Given the description of an element on the screen output the (x, y) to click on. 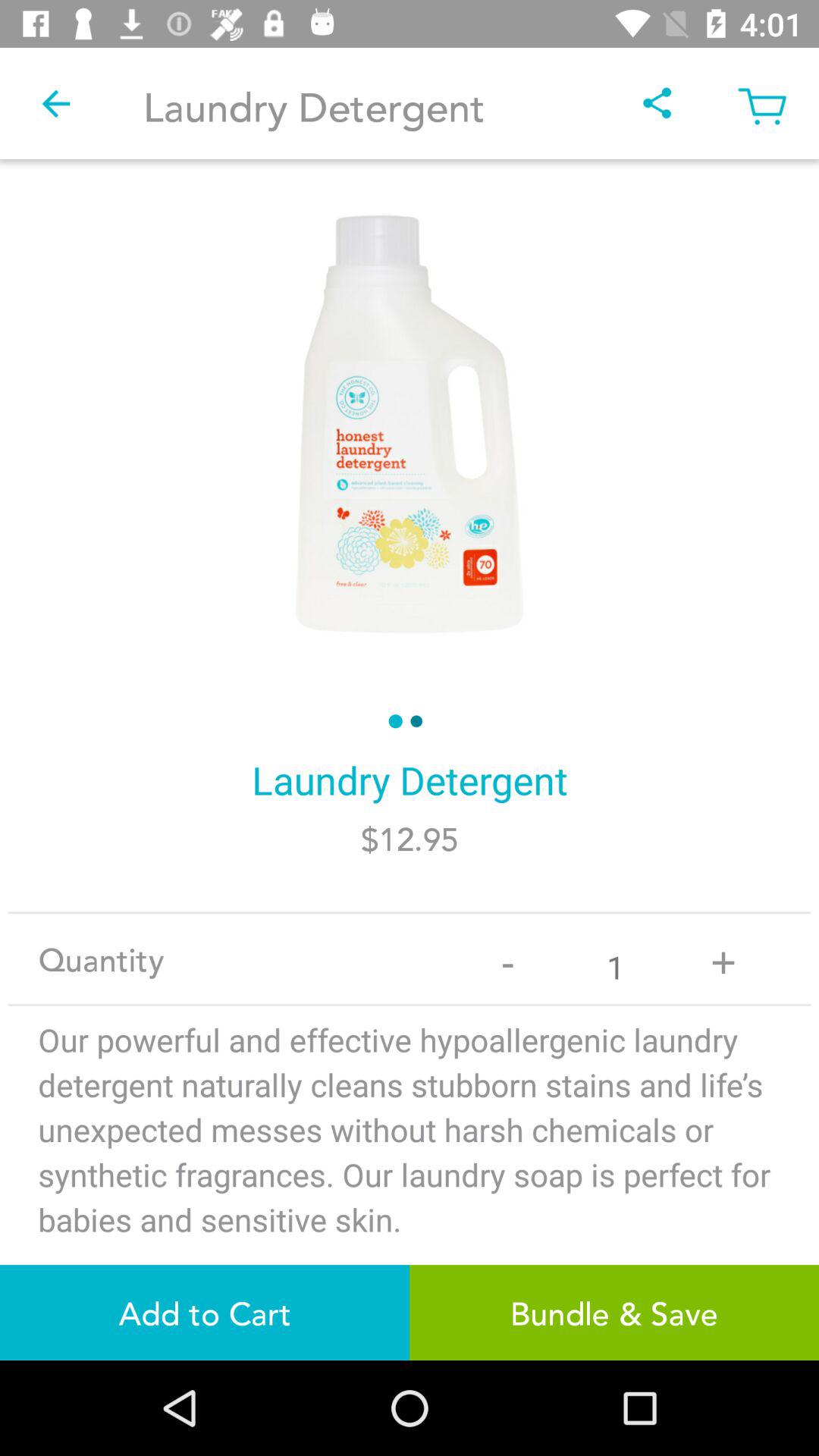
open the - icon (507, 958)
